Given the description of an element on the screen output the (x, y) to click on. 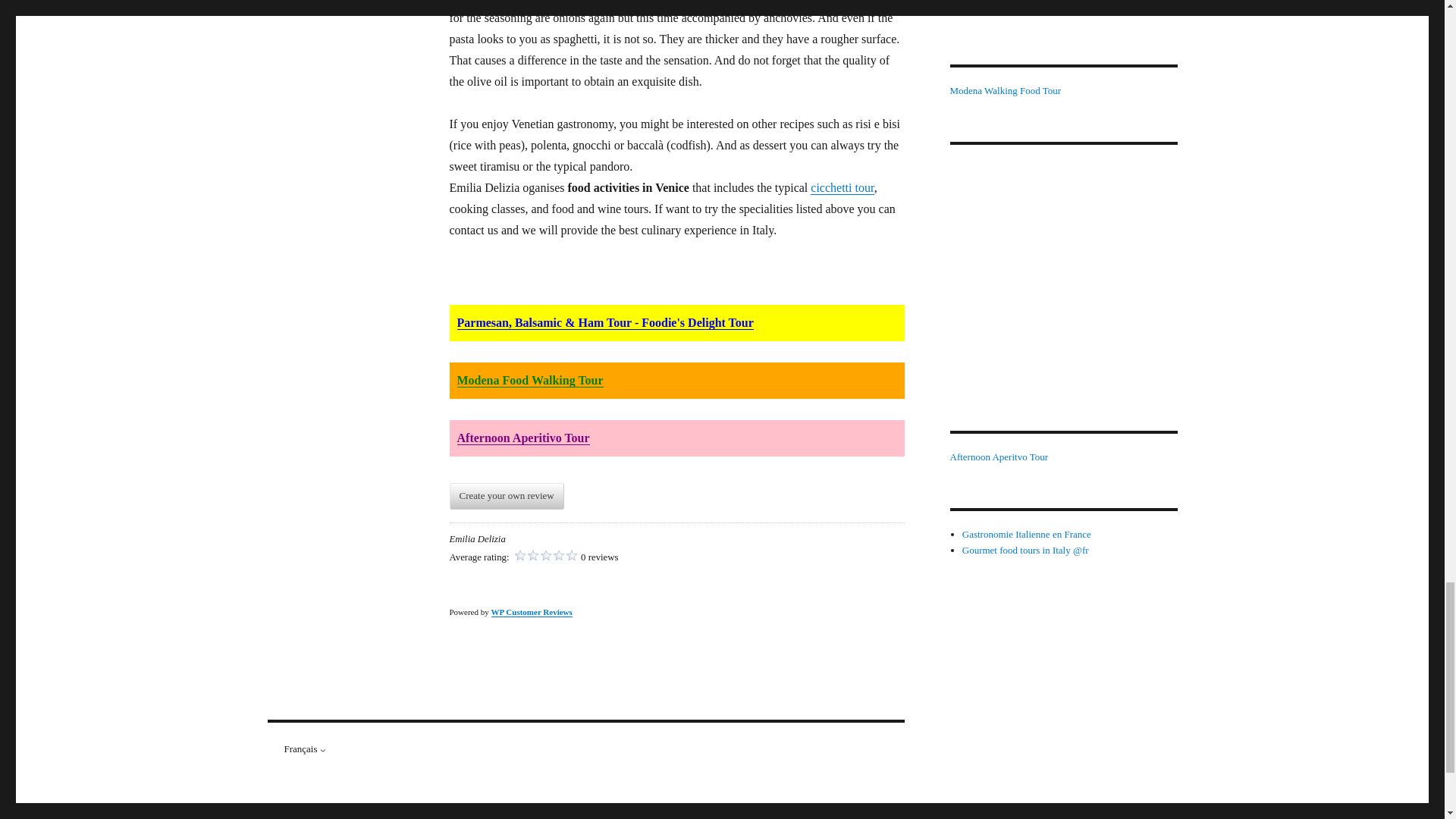
WP Customer Reviews (532, 611)
Modena Food Walking Tour (529, 379)
cicchetti tour (841, 187)
Afternoon Aperitivo Tour (523, 437)
food crawl in venice (841, 187)
